Given the description of an element on the screen output the (x, y) to click on. 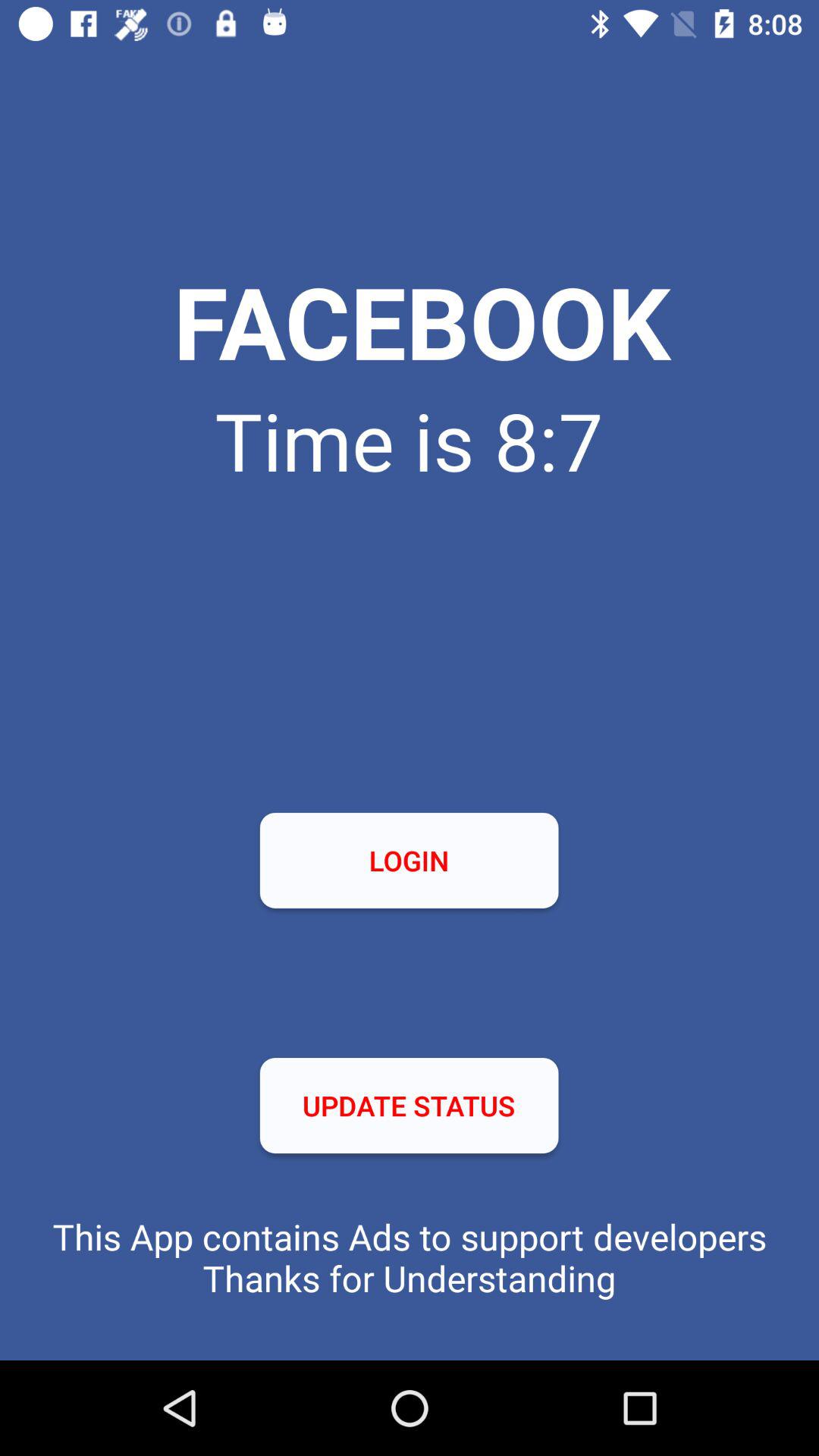
flip until update status (408, 1105)
